Given the description of an element on the screen output the (x, y) to click on. 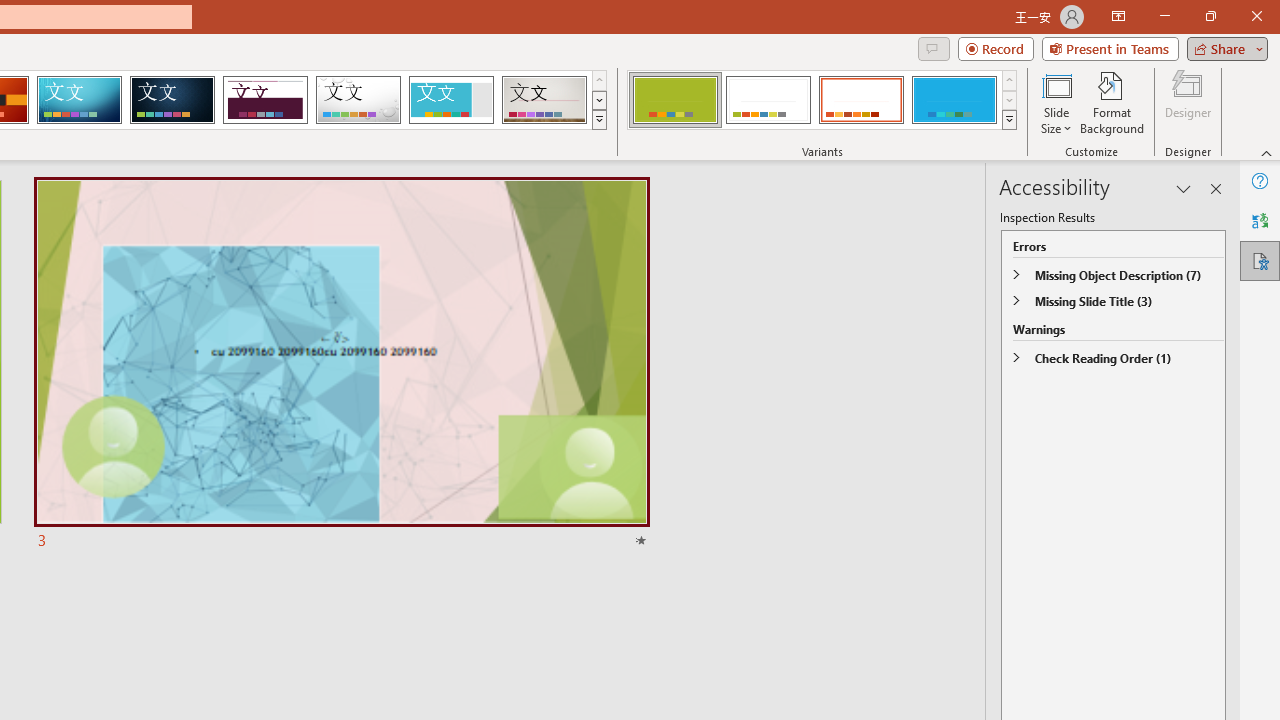
Basis Variant 3 (861, 100)
Dividend (265, 100)
Translator (1260, 220)
AutomationID: ThemeVariantsGallery (822, 99)
Basis Variant 1 (674, 100)
Gallery (544, 100)
Basis Variant 2 (768, 100)
Circuit (79, 100)
Slide Size (1056, 102)
Droplet (358, 100)
